Given the description of an element on the screen output the (x, y) to click on. 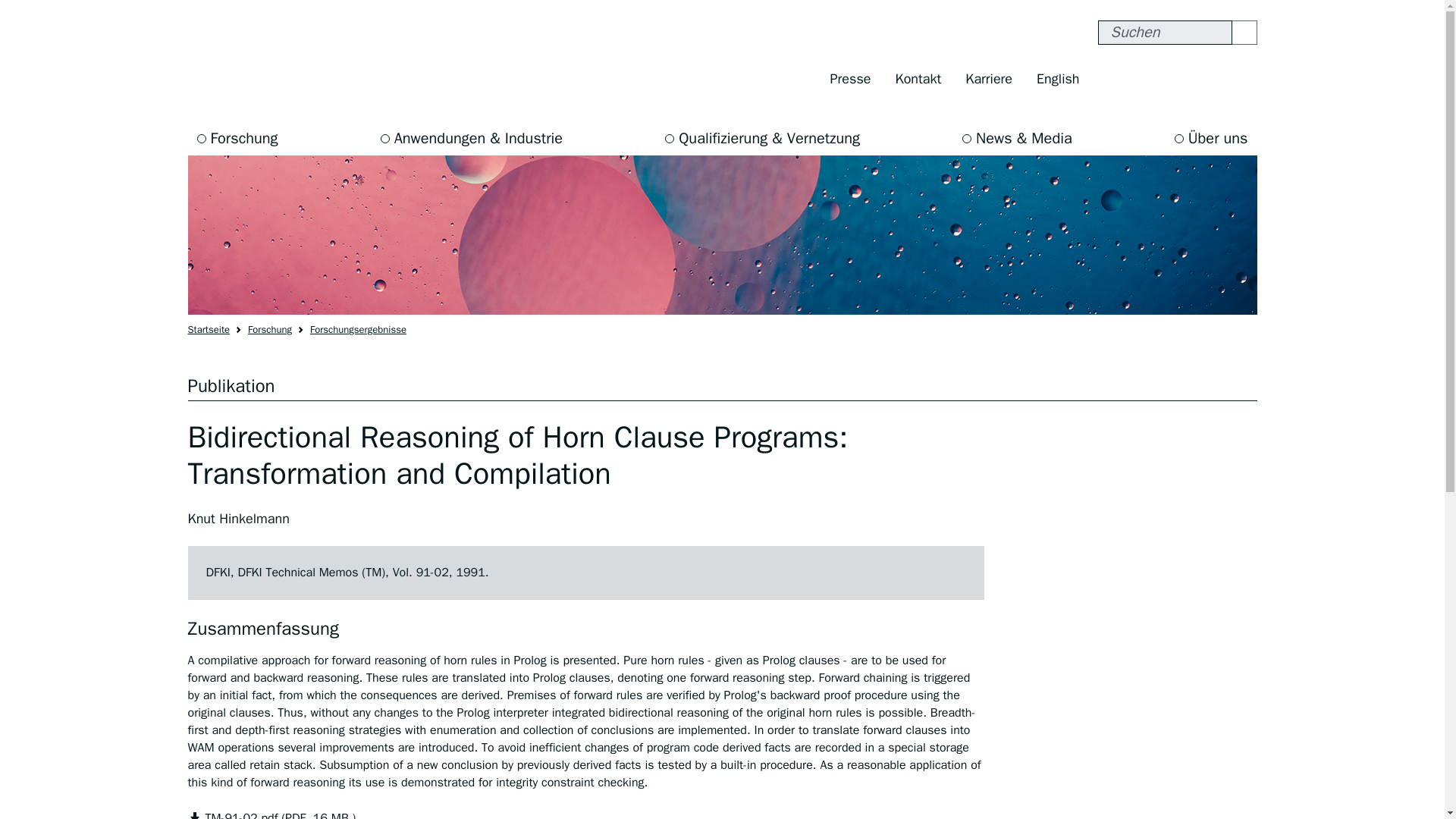
Folgen Sie uns auf: Youtube (1209, 79)
Kontakt (917, 79)
Folgen Sie uns auf: LinkedIn (1240, 79)
Presse (850, 79)
Karriere (989, 79)
Folgen Sie uns auf: LinkedIn (1240, 79)
English (1057, 79)
Folgen Sie uns auf: Facebook (1113, 79)
Forschung (236, 138)
Forschung (269, 328)
